Given the description of an element on the screen output the (x, y) to click on. 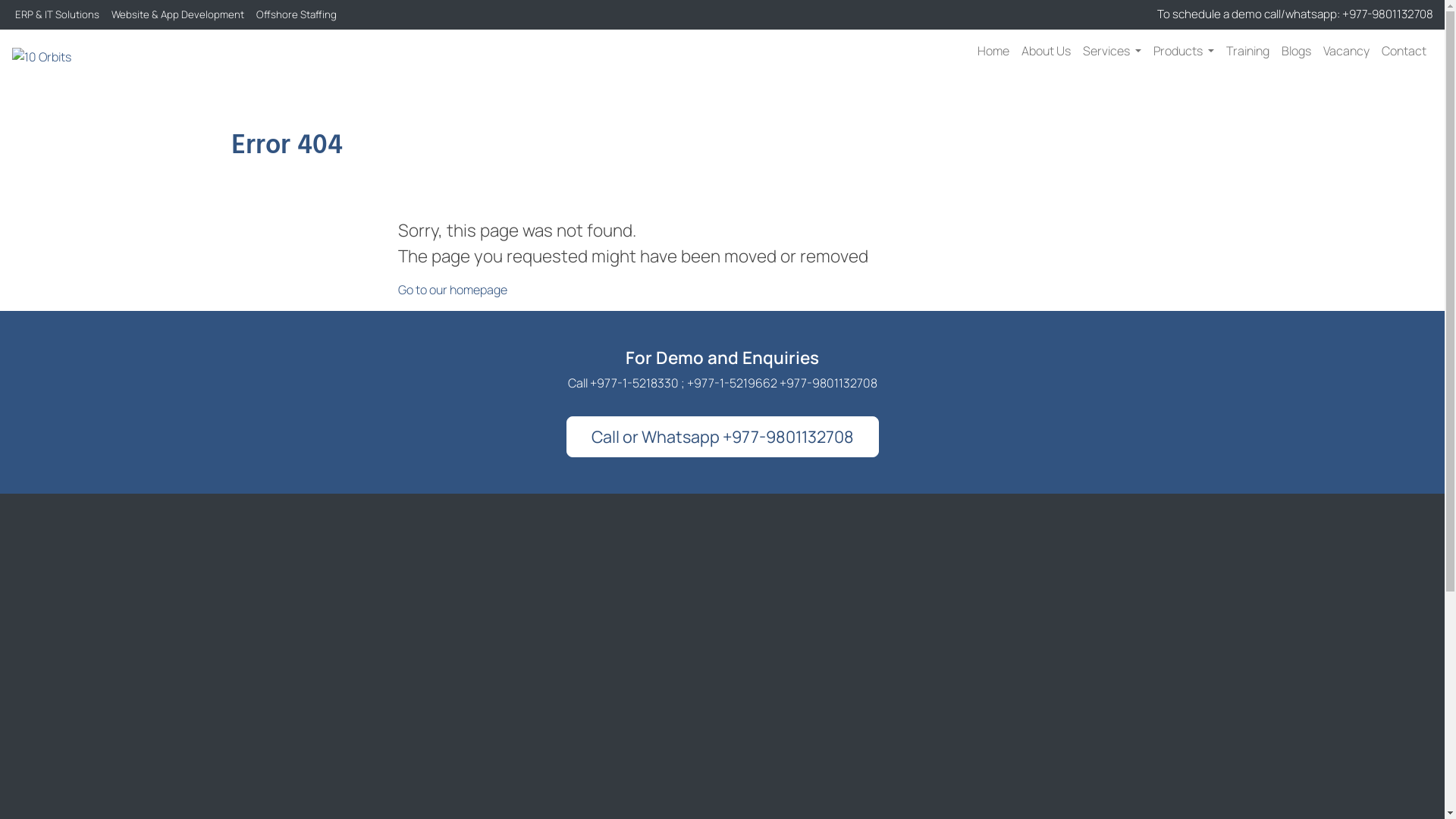
Offshore Staffing Element type: text (296, 14)
Contact Element type: text (1403, 50)
Blogs Element type: text (1296, 50)
+977-9801132708  Element type: text (1388, 13)
Training Element type: text (1247, 50)
About Us Element type: text (1045, 50)
Go to our homepage Element type: text (451, 289)
Call or Whatsapp +977-9801132708 Element type: text (722, 436)
Home Element type: text (993, 50)
Services Element type: text (1111, 50)
ERP & IT Solutions Element type: text (57, 14)
Website & App Development Element type: text (177, 14)
Products Element type: text (1183, 50)
Vacancy Element type: text (1346, 50)
